Given the description of an element on the screen output the (x, y) to click on. 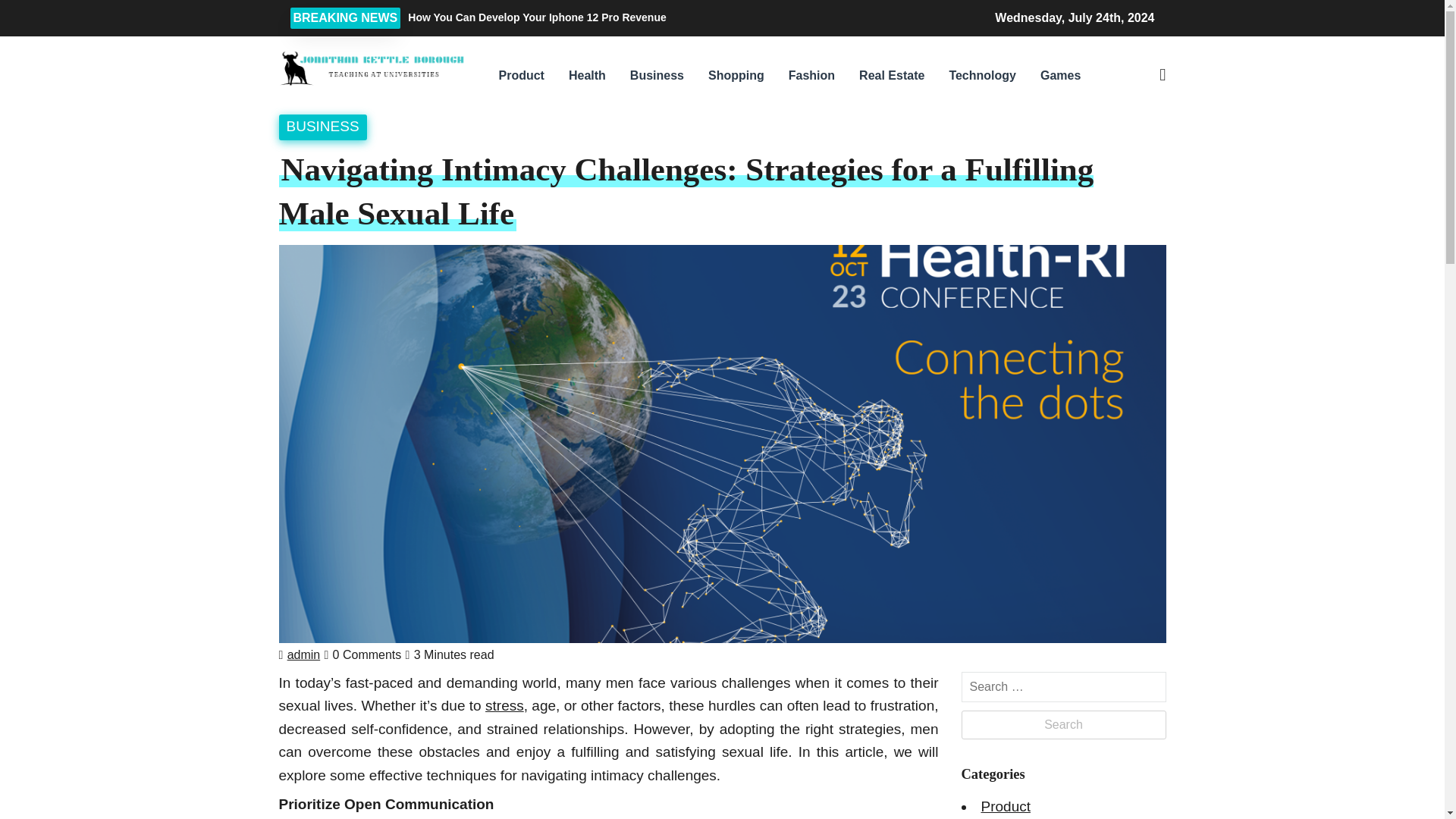
Search (1063, 724)
BUSINESS (322, 125)
Product (521, 75)
Shopping (735, 75)
Fashion (811, 75)
Business (656, 75)
Search (1063, 724)
Health (586, 75)
Search (1045, 156)
stress (504, 705)
Real Estate (891, 75)
How You Can Develop Your Iphone 12 Pro Revenue (637, 17)
Games (1060, 75)
admin (303, 654)
Technology (981, 75)
